Given the description of an element on the screen output the (x, y) to click on. 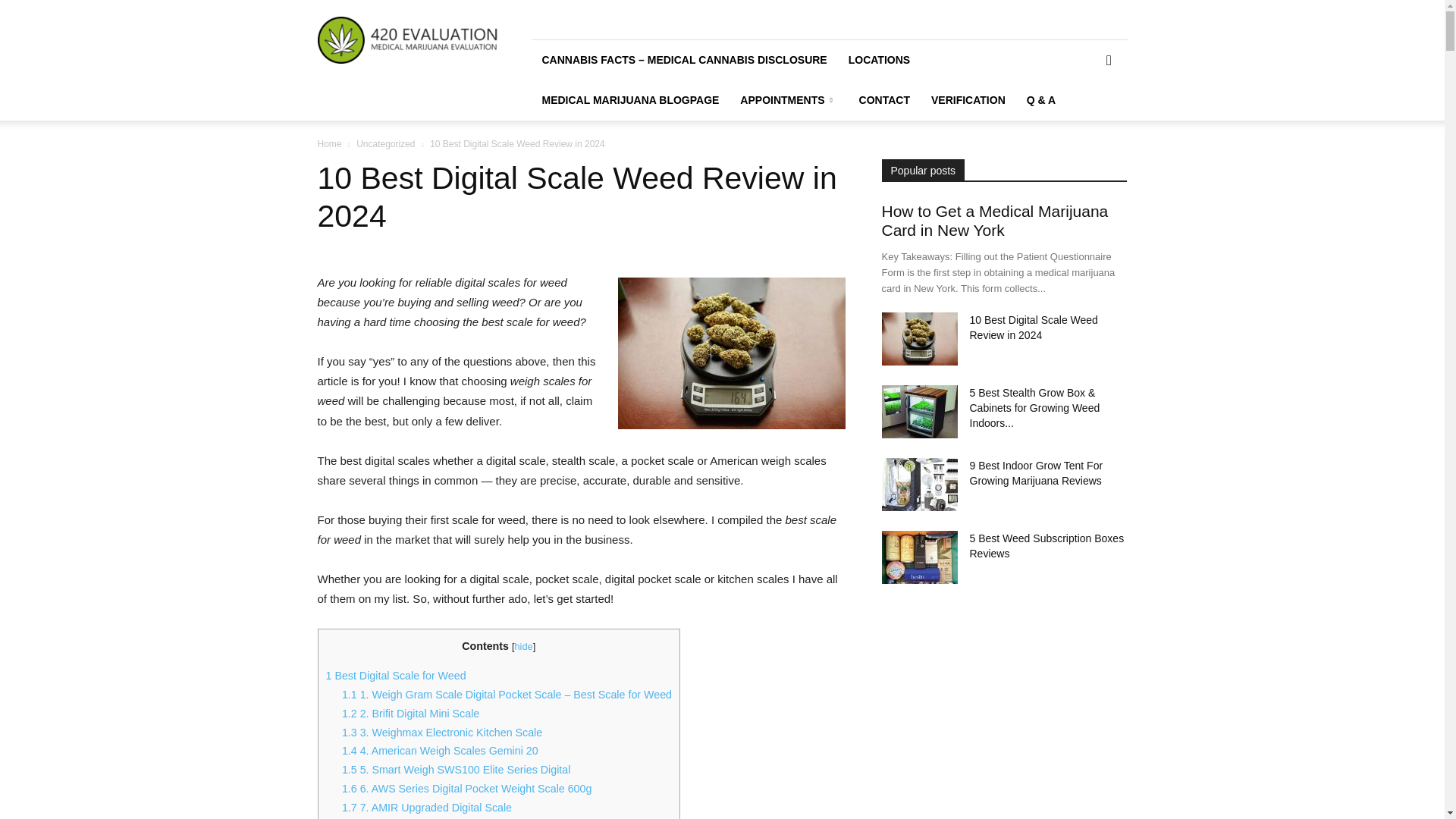
APPOINTMENTS (788, 100)
View all posts in Uncategorized (385, 143)
MEDICAL MARIJUANA BLOGPAGE (630, 100)
VERIFICATION (968, 100)
CONTACT (884, 100)
hide (522, 645)
Search (1085, 122)
LOCATIONS (879, 60)
1.3 3. Weighmax Electronic Kitchen Scale (441, 732)
1.5 5. Smart Weigh SWS100 Elite Series Digital (456, 769)
